Given the description of an element on the screen output the (x, y) to click on. 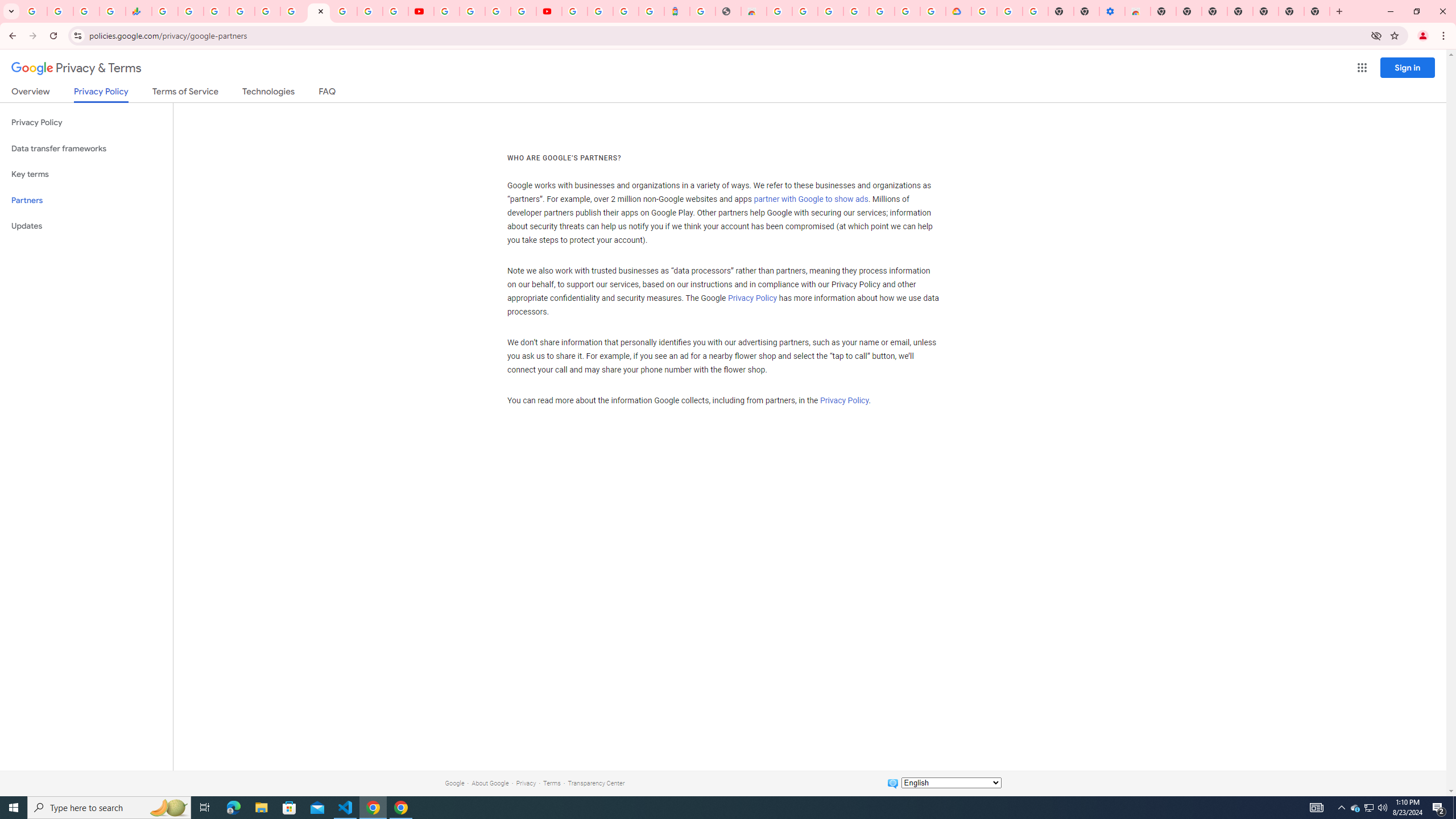
YouTube (421, 11)
Google Workspace Admin Community (34, 11)
Privacy Checkup (395, 11)
Sign in - Google Accounts (907, 11)
Sign in - Google Accounts (242, 11)
